Given the description of an element on the screen output the (x, y) to click on. 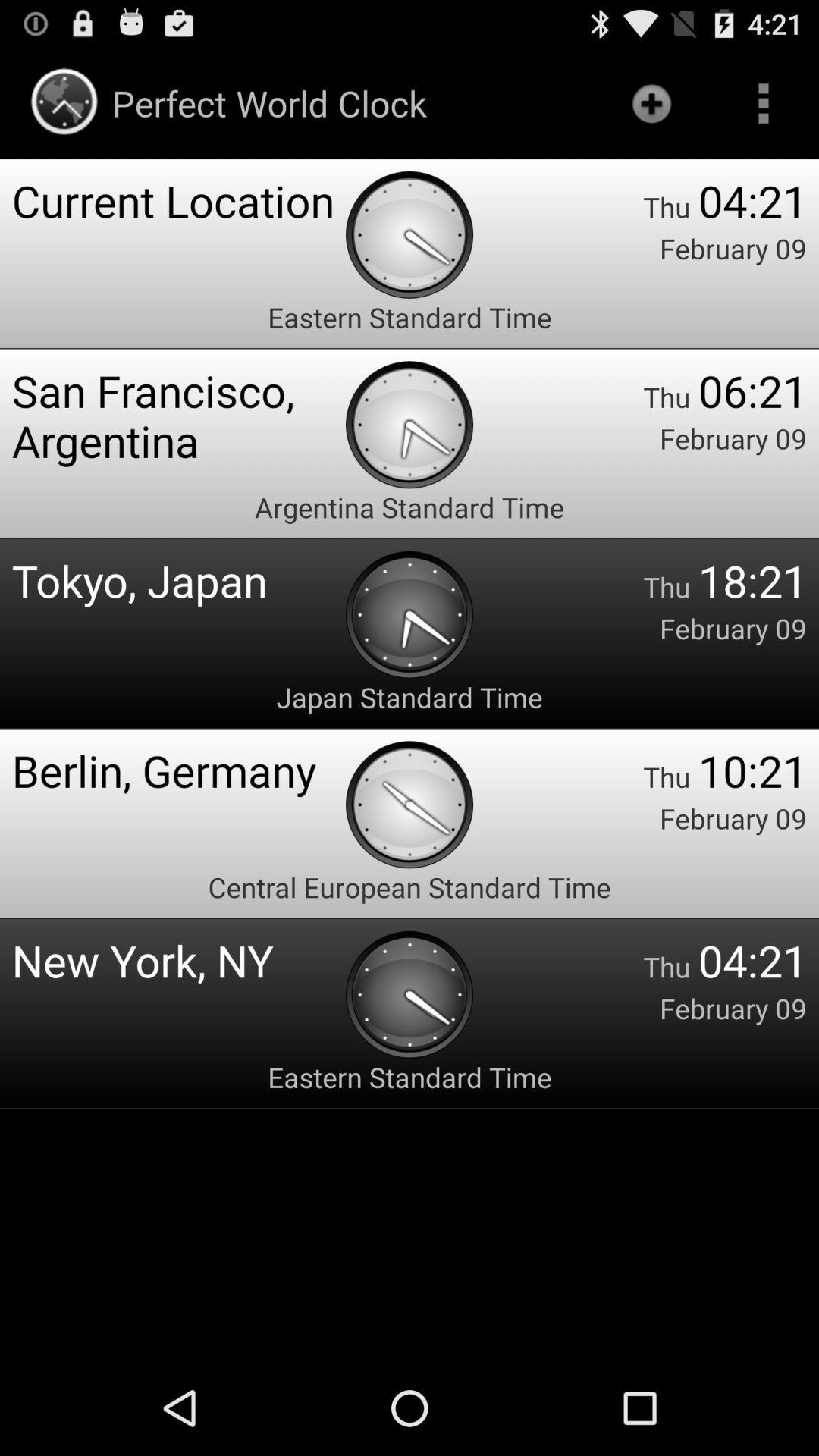
scroll to san francisco, argentina (178, 415)
